Given the description of an element on the screen output the (x, y) to click on. 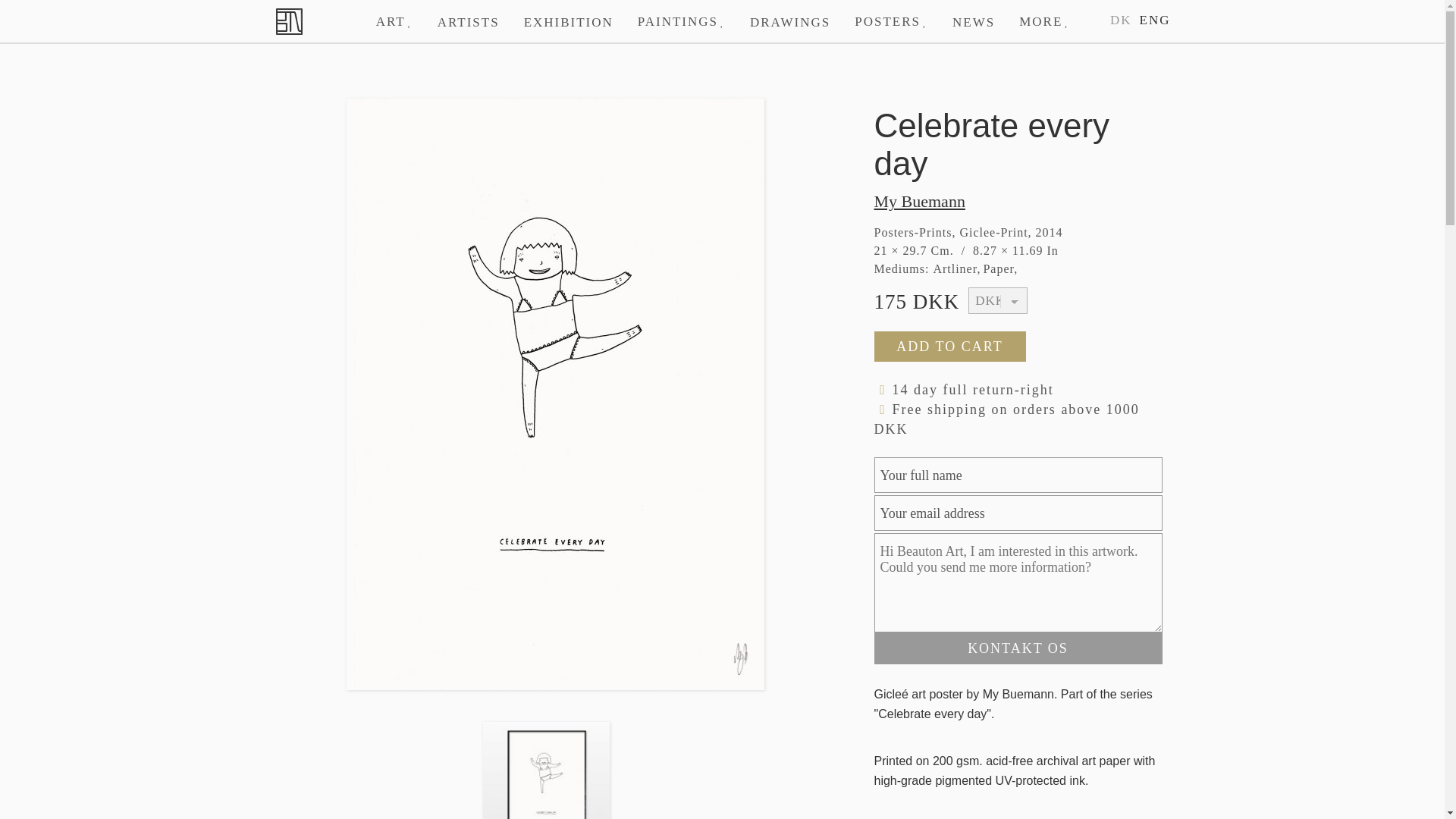
MORE (1044, 21)
DRAWINGS (790, 21)
My Buemann (1017, 201)
ARTISTS (468, 21)
Add to cart (949, 346)
Save (144, 15)
ART (394, 21)
POSTERS (891, 21)
Kontakt os (1017, 648)
EXHIBITION (569, 21)
Add to cart (949, 346)
